Given the description of an element on the screen output the (x, y) to click on. 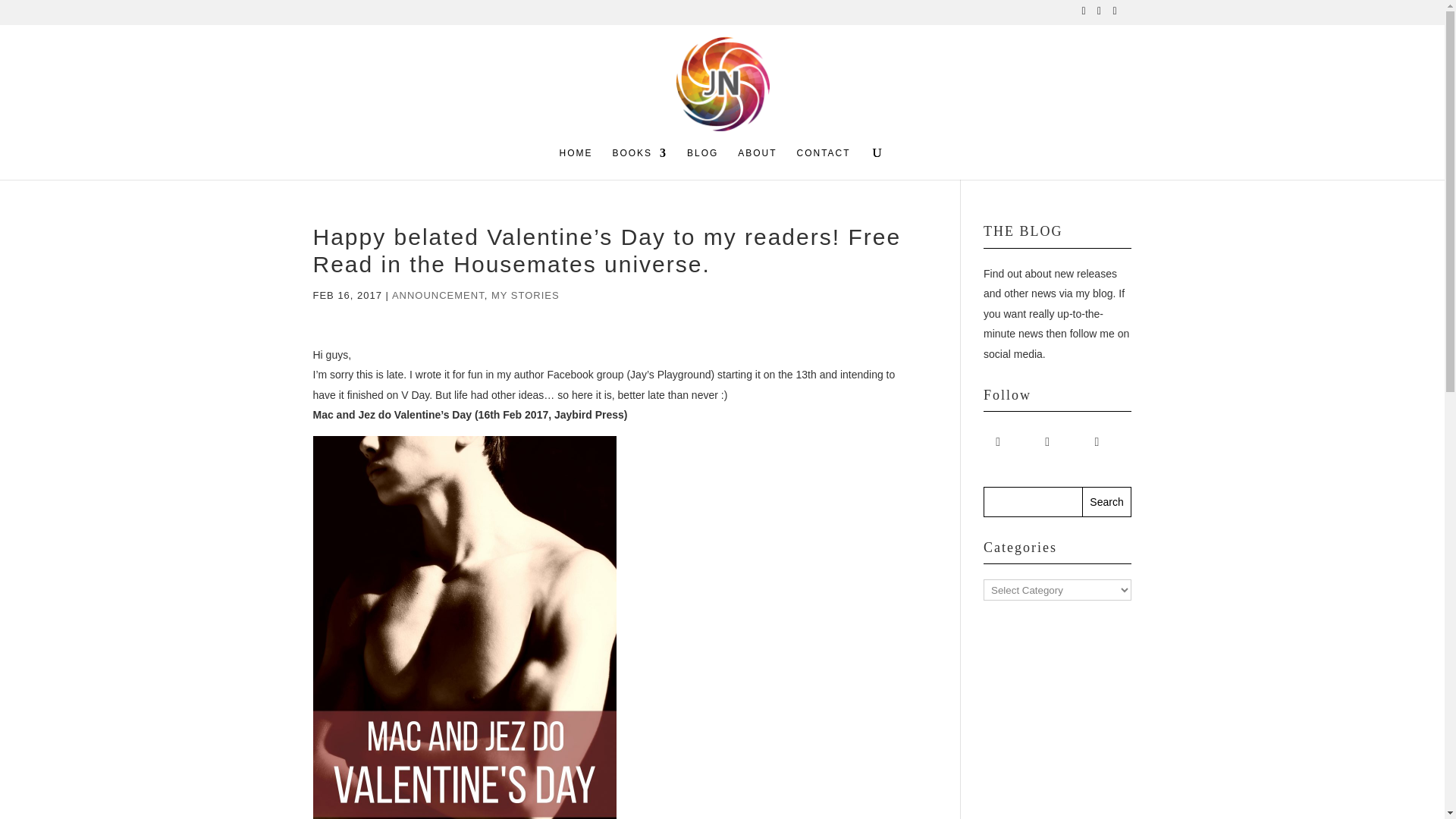
CONTACT (823, 163)
Search (1106, 501)
Search (1106, 501)
ANNOUNCEMENT (437, 295)
HOME (575, 163)
BOOKS (638, 163)
BLOG (702, 163)
MY STORIES (525, 295)
ABOUT (757, 163)
